Given the description of an element on the screen output the (x, y) to click on. 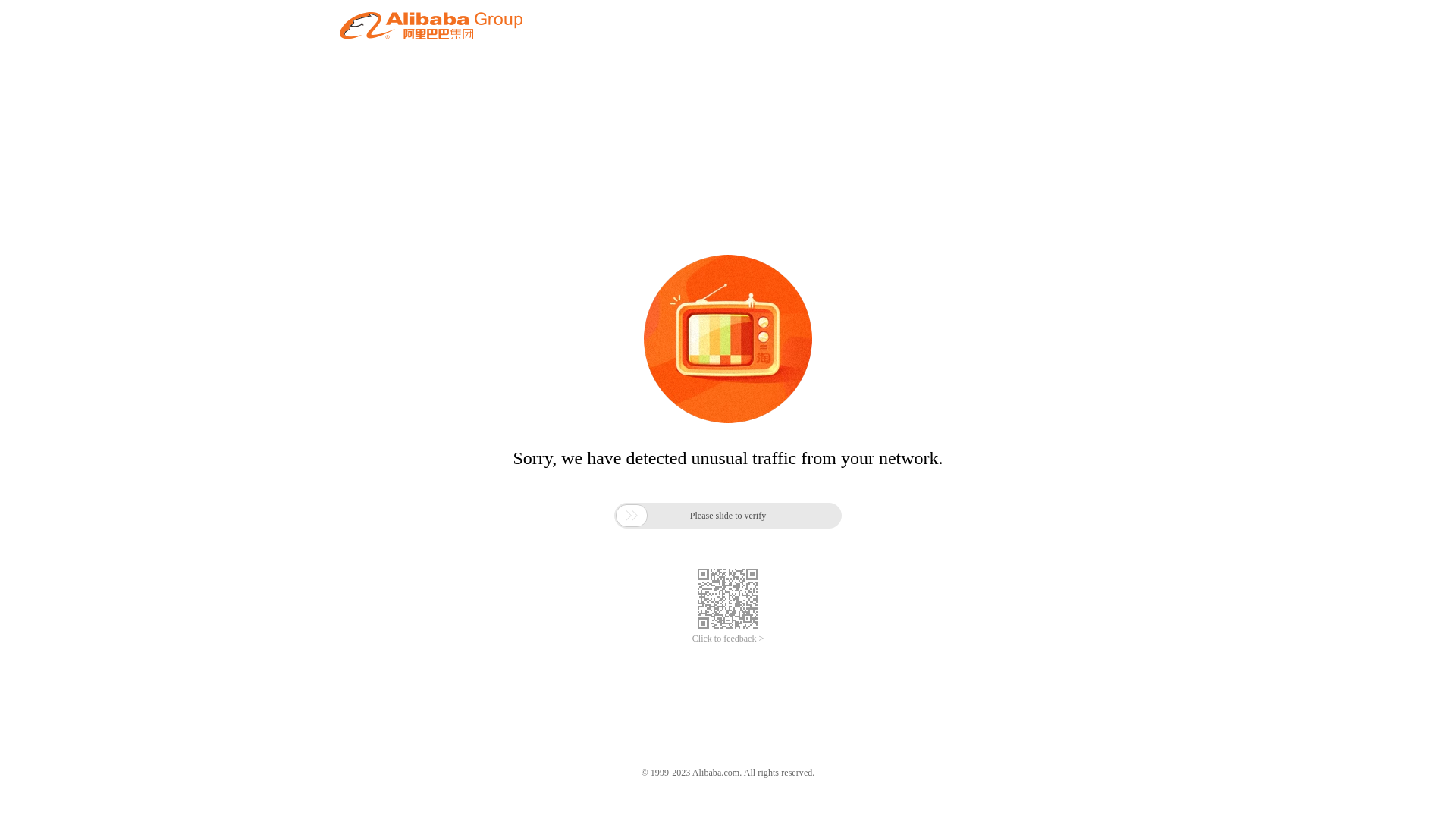
Click to feedback > Element type: text (727, 638)
